Given the description of an element on the screen output the (x, y) to click on. 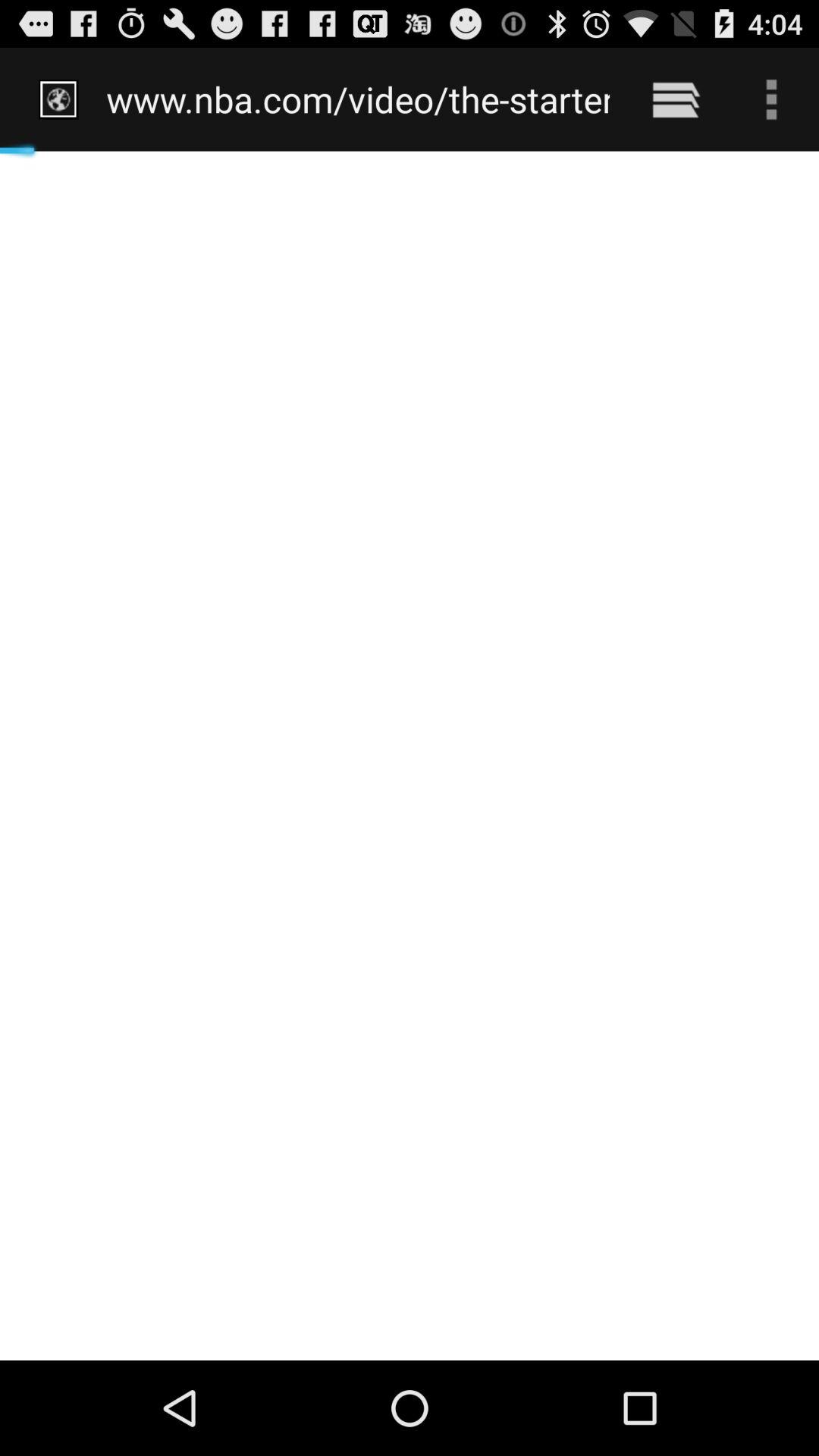
open item below www nba com (409, 755)
